Given the description of an element on the screen output the (x, y) to click on. 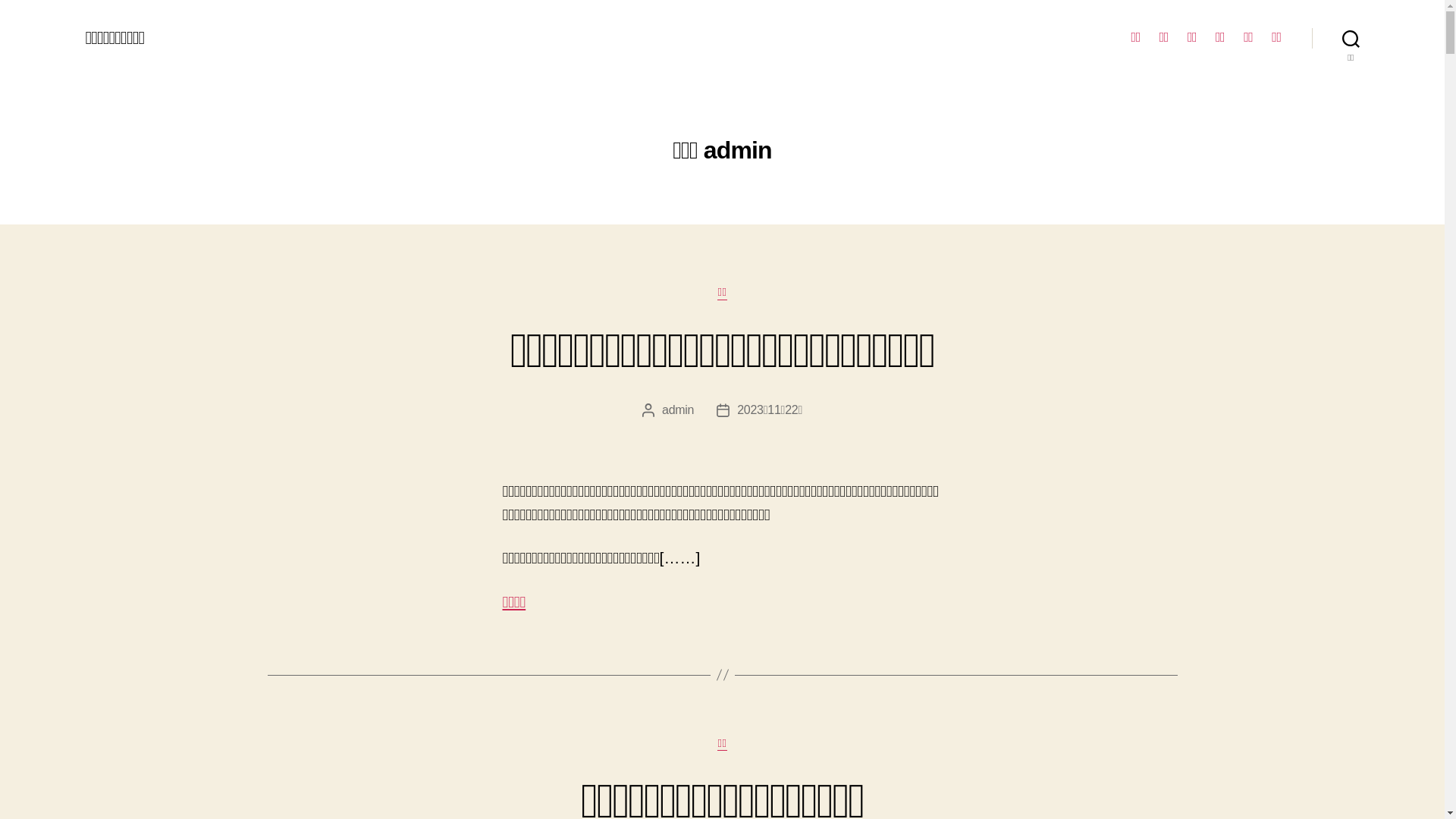
admin Element type: text (677, 409)
